Given the description of an element on the screen output the (x, y) to click on. 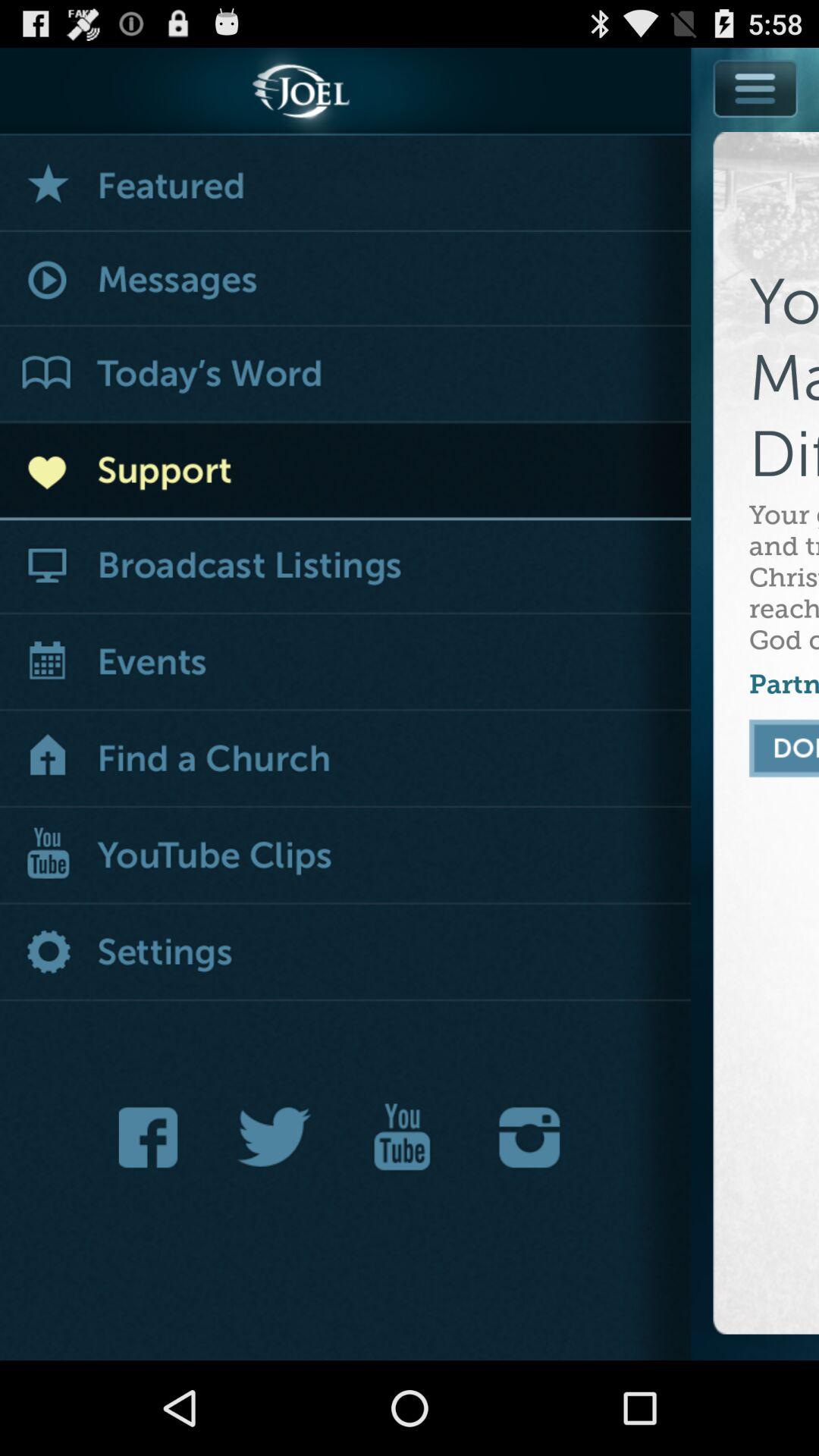
events (345, 663)
